Given the description of an element on the screen output the (x, y) to click on. 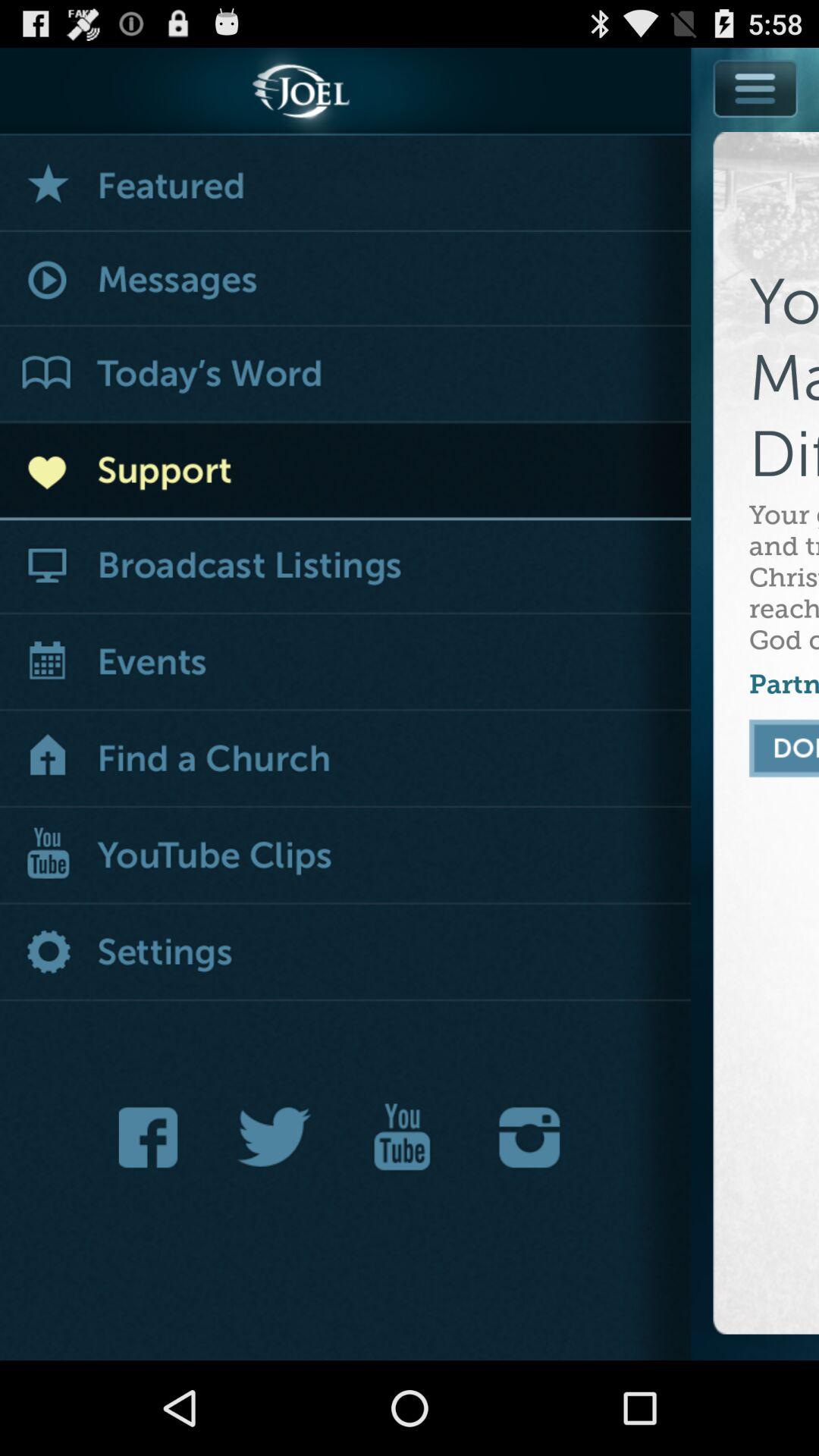
events (345, 663)
